Given the description of an element on the screen output the (x, y) to click on. 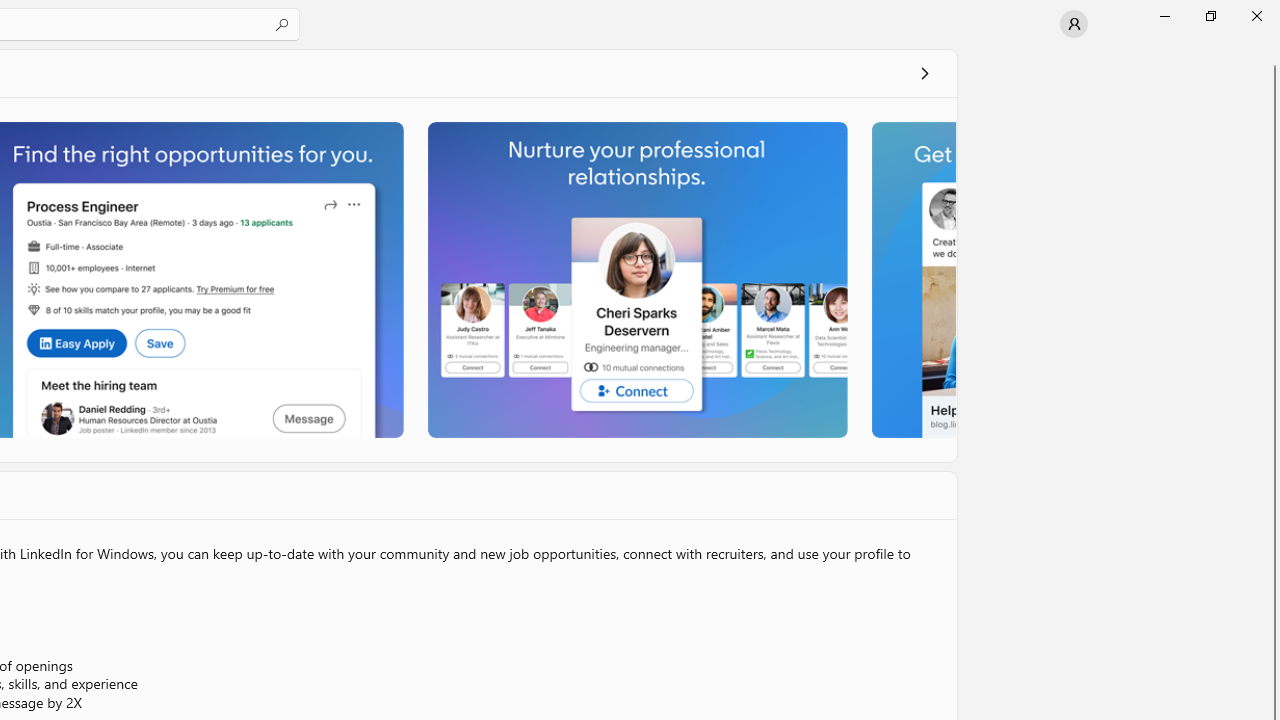
See all (924, 72)
Vertical Small Decrease (1272, 55)
Screenshot 3 (636, 279)
Screenshot 4 (912, 279)
